Given the description of an element on the screen output the (x, y) to click on. 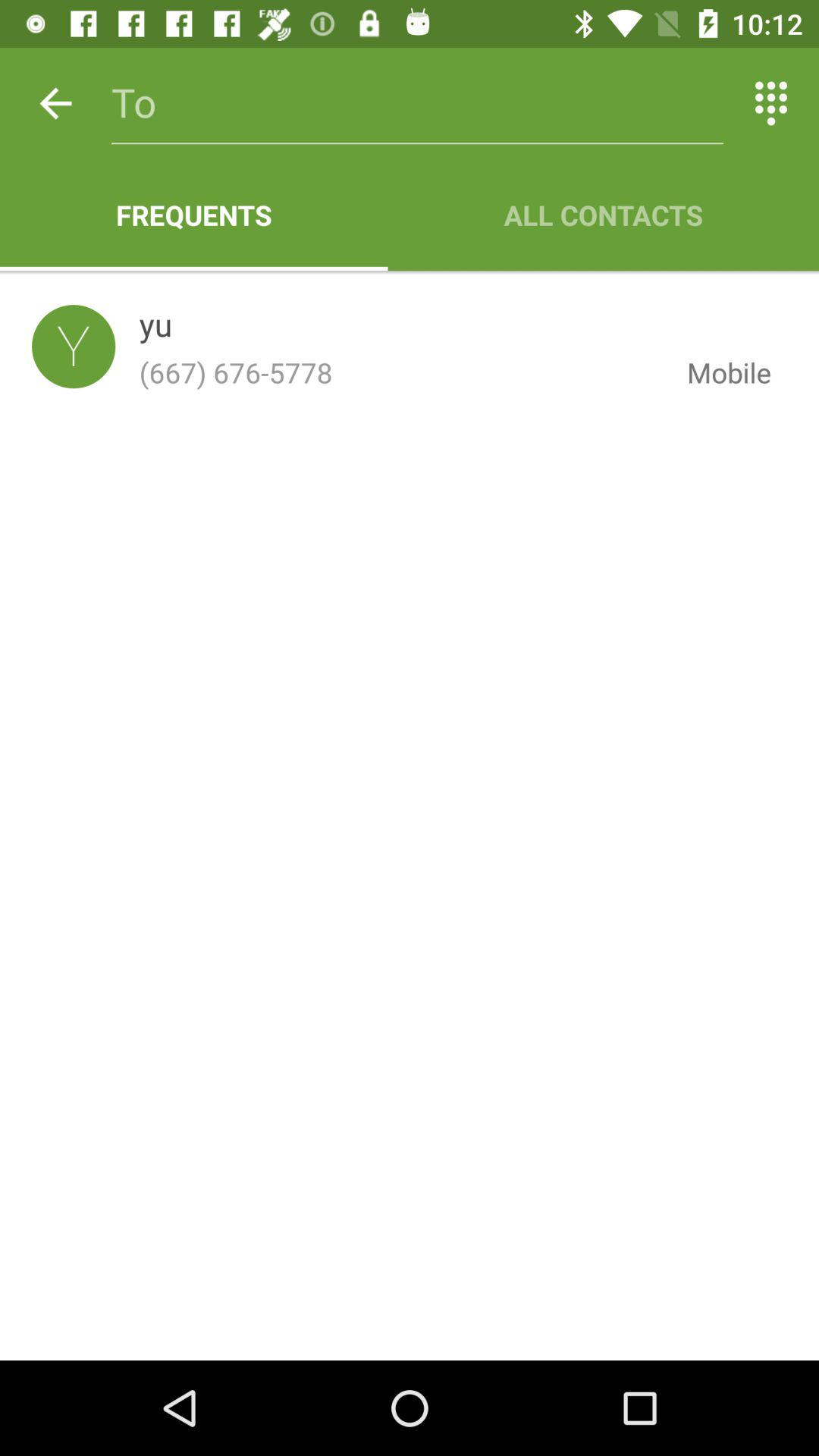
click the app next to the frequents icon (603, 214)
